Given the description of an element on the screen output the (x, y) to click on. 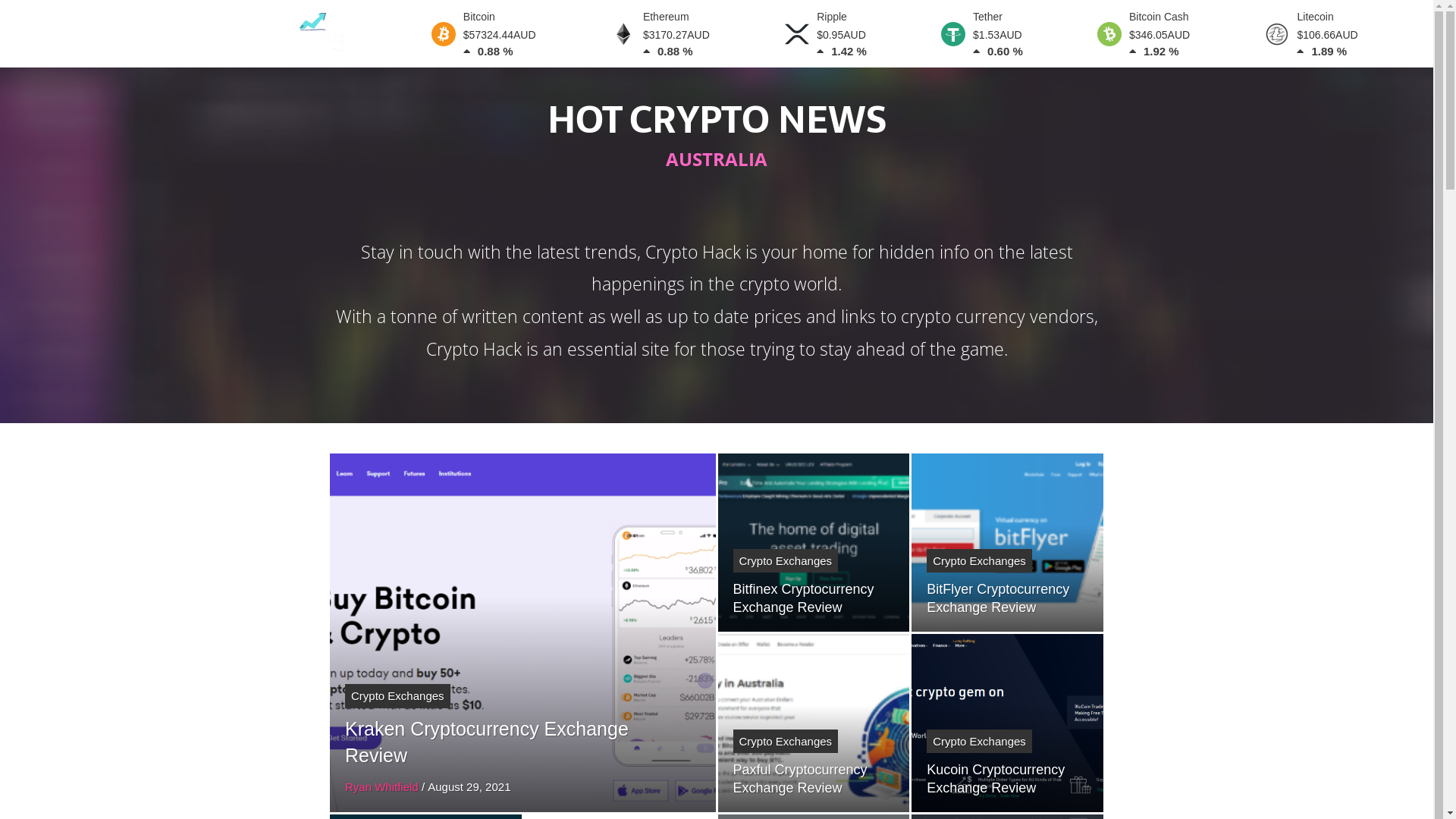
BitFlyer Cryptocurrency Exchange Review Element type: text (997, 598)
Kraken Cryptocurrency Exchange Review Element type: text (486, 741)
Kucoin Cryptocurrency Exchange Review Element type: text (995, 778)
Bitfinex Cryptocurrency Exchange Review Element type: text (802, 598)
Ryan Whitfield Element type: text (381, 786)
Paxful Cryptocurrency Exchange Review Element type: text (799, 778)
